Given the description of an element on the screen output the (x, y) to click on. 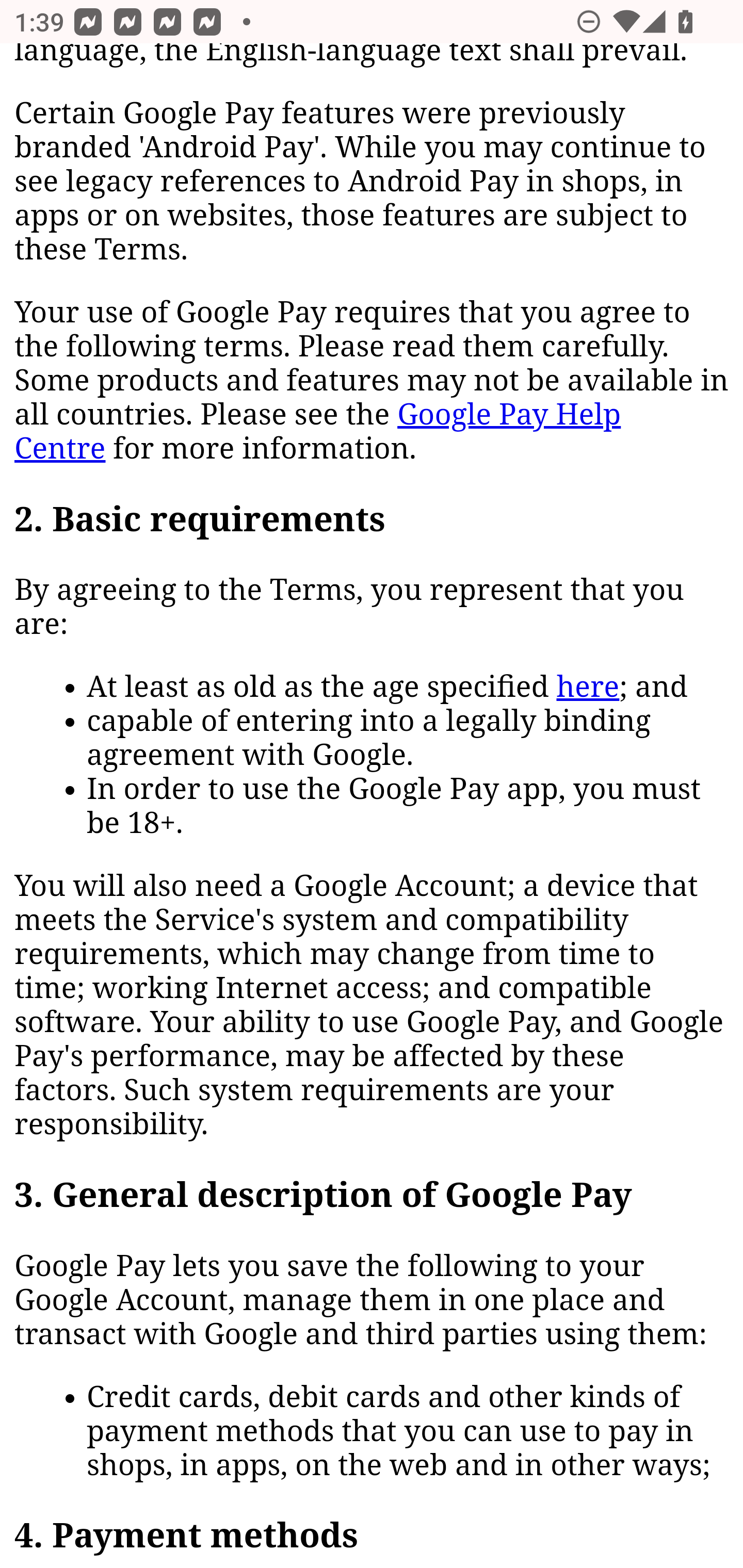
Google Pay Help Centre (318, 431)
here (588, 687)
